Given the description of an element on the screen output the (x, y) to click on. 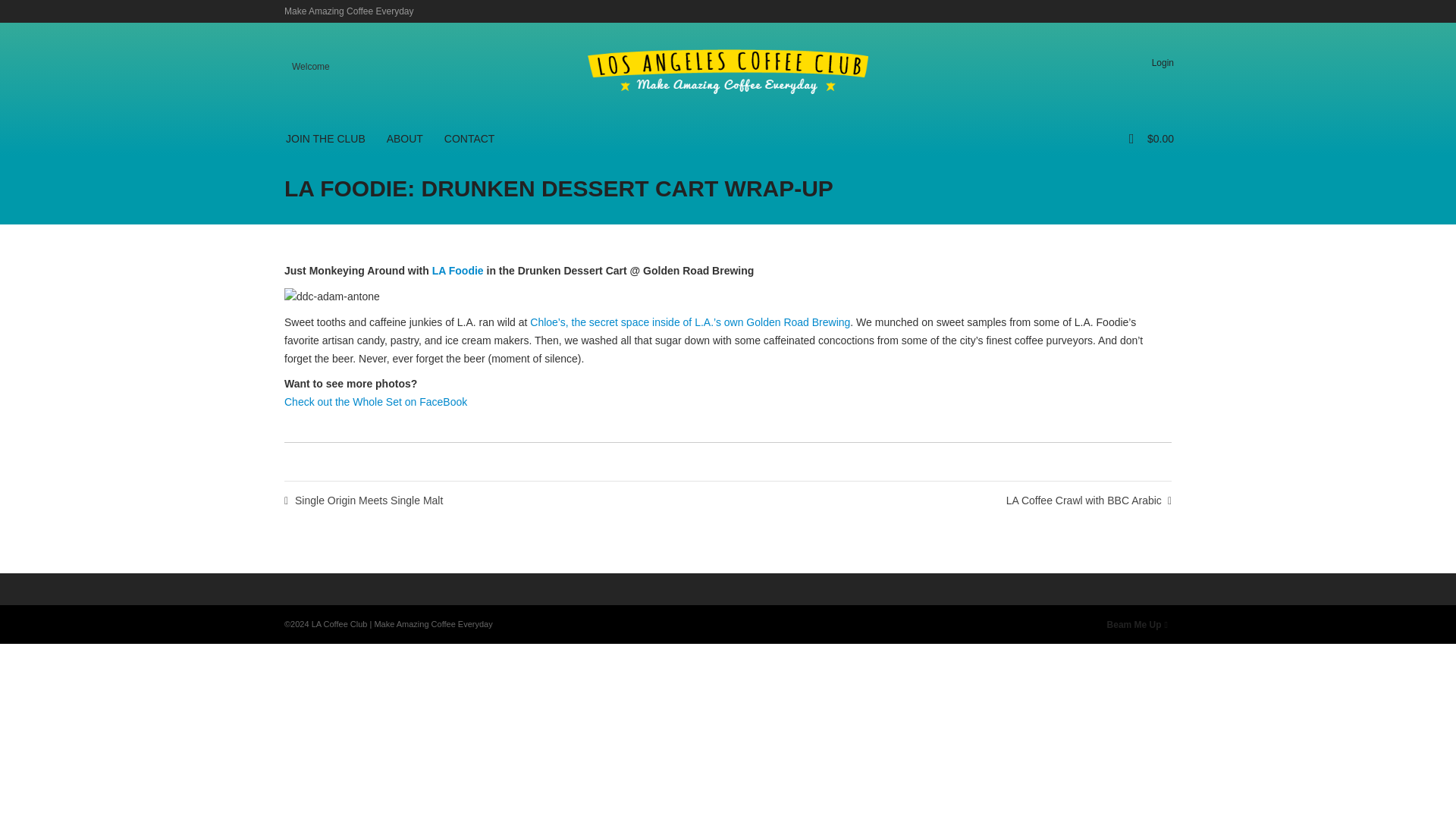
ABOUT (404, 138)
Single Origin Meets Single Malt (362, 500)
LA Foodie (457, 270)
Twitter (1103, 11)
Join LA Coffee Club (325, 138)
Login (1166, 62)
View your shopping bag (1155, 138)
Check out the Whole Set on FaceBook (375, 401)
JOIN THE CLUB (325, 138)
Beam Me Up (1136, 624)
